Given the description of an element on the screen output the (x, y) to click on. 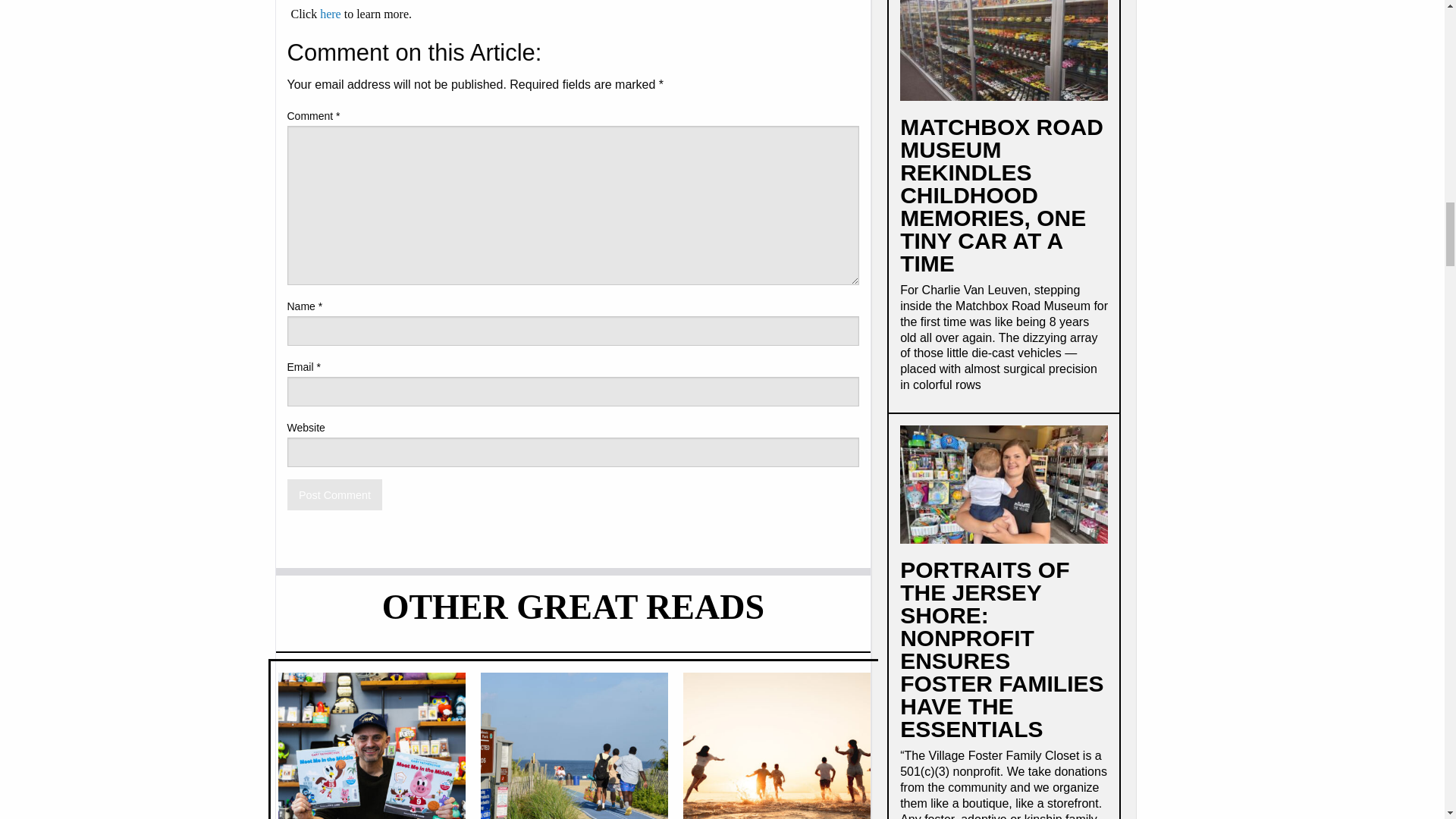
Post Comment (333, 494)
here (330, 13)
